Given the description of an element on the screen output the (x, y) to click on. 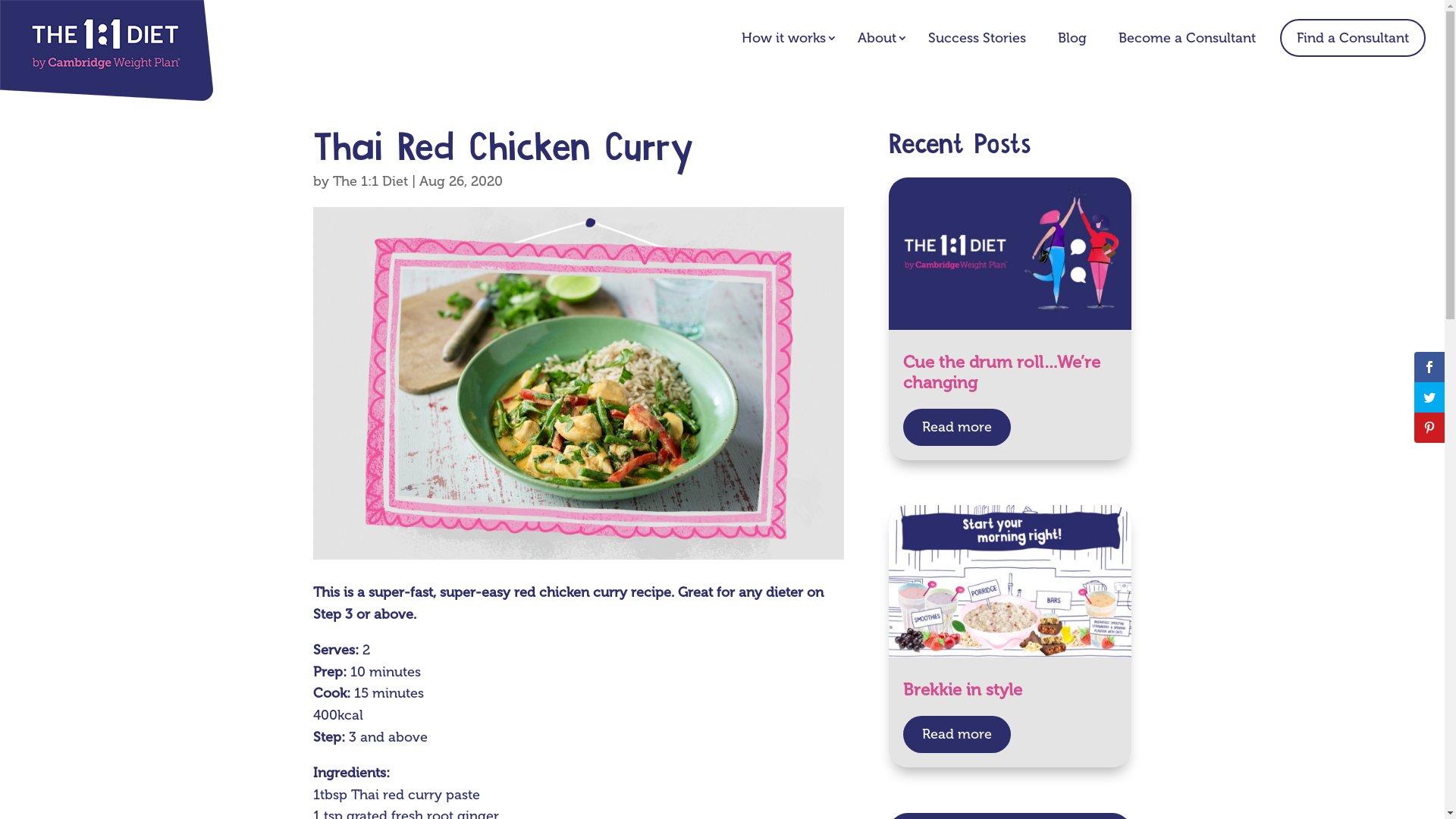
Find a Consultant Element type: text (1352, 37)
How it works Element type: text (783, 37)
BlogRed-chicken-Curry Element type: hover (577, 382)
About Element type: text (876, 37)
Skip to content Element type: text (0, 0)
The 1:1 Diet Element type: text (369, 180)
Blog Element type: text (1072, 37)
read more Element type: text (956, 734)
Brekkie in style Element type: text (962, 689)
Become a Consultant Element type: text (1186, 37)
Success Stories Element type: text (976, 37)
read more Element type: text (956, 426)
